Given the description of an element on the screen output the (x, y) to click on. 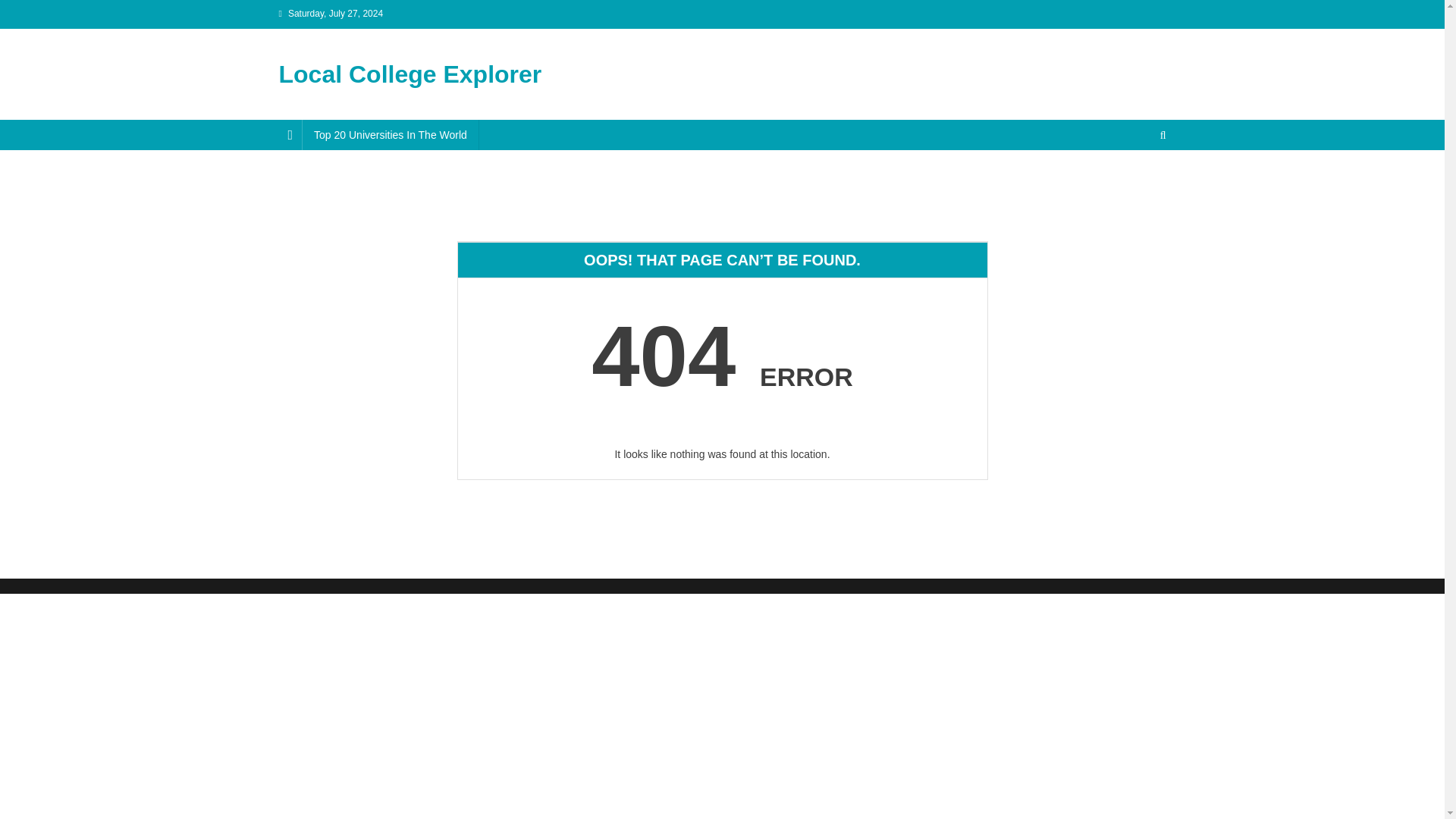
Search (1133, 185)
Top 20 Universities In The World (390, 134)
Local College Explorer (410, 73)
